Given the description of an element on the screen output the (x, y) to click on. 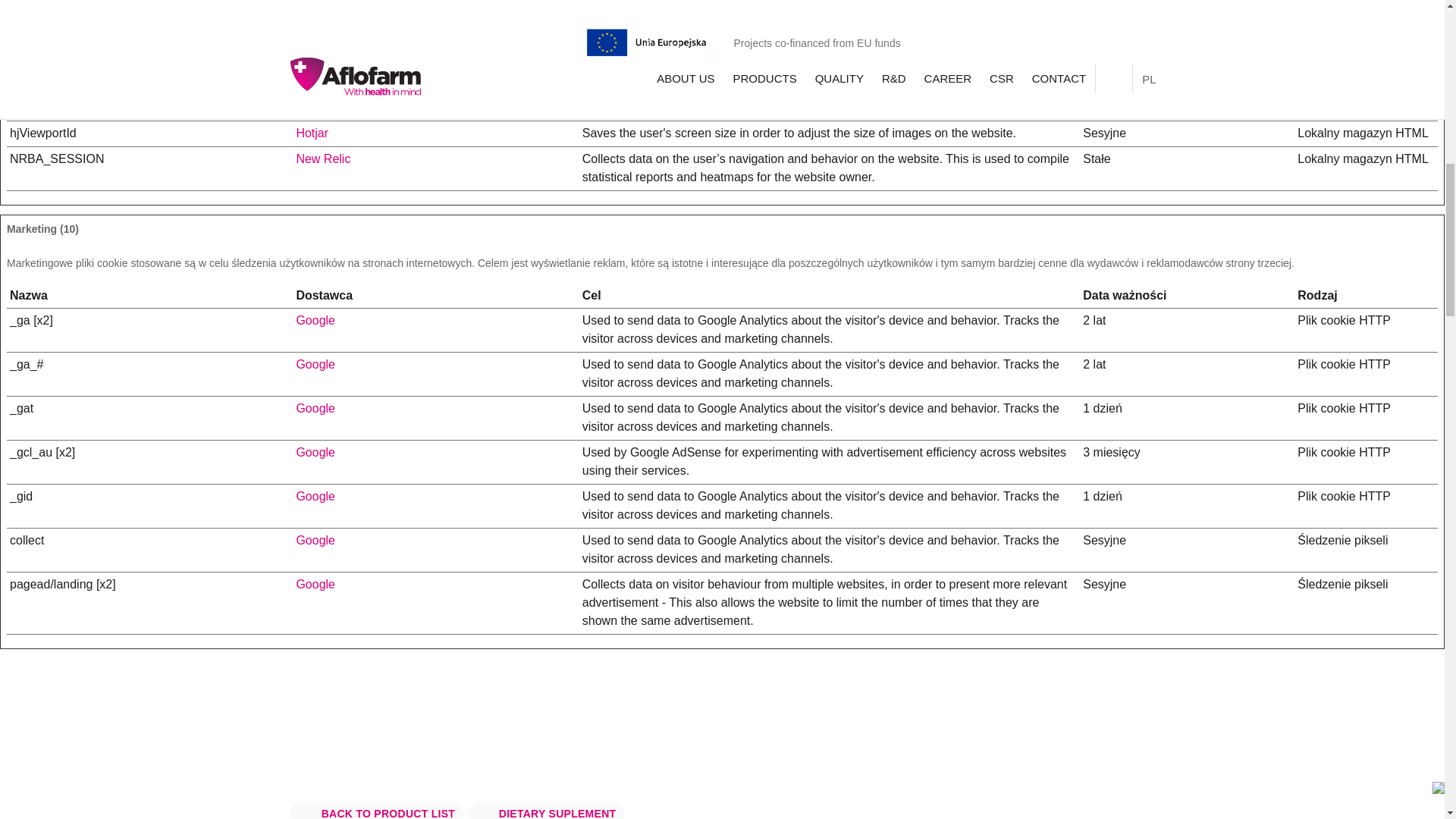
Hotjar (312, 132)
Google (314, 495)
Google (314, 584)
Google (314, 408)
Google (314, 364)
Google (314, 319)
Google (314, 451)
Hotjar (312, 26)
Google (314, 540)
Hotjar (312, 70)
